Given the description of an element on the screen output the (x, y) to click on. 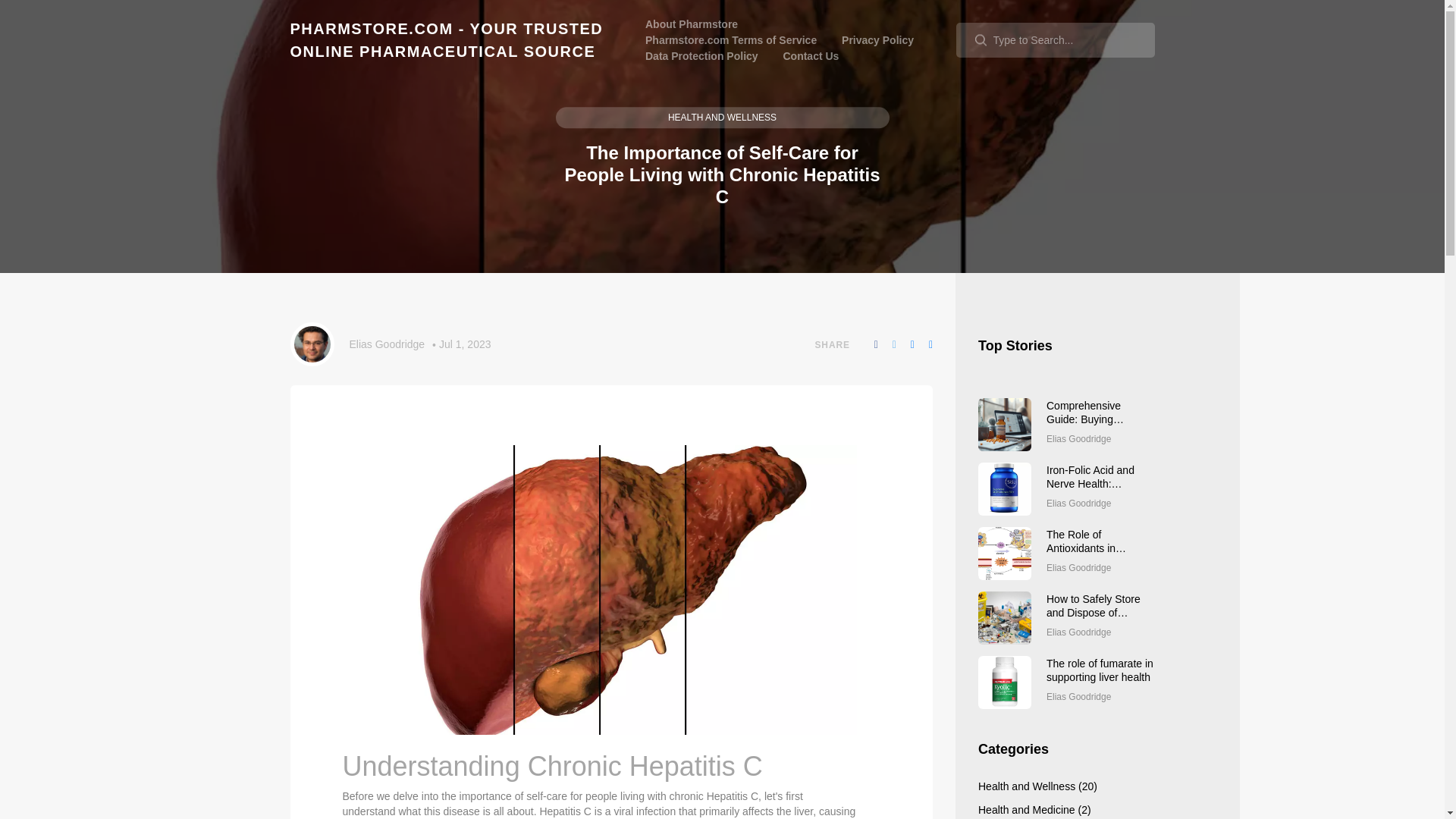
Elias Goodridge (387, 344)
Privacy Policy (877, 39)
About Pharmstore (691, 24)
Contact Us (810, 55)
PHARMSTORE.COM - YOUR TRUSTED ONLINE PHARMACEUTICAL SOURCE (445, 39)
Data Protection Policy (701, 55)
HEALTH AND WELLNESS (721, 117)
Pharmstore.com Terms of Service (730, 39)
